Given the description of an element on the screen output the (x, y) to click on. 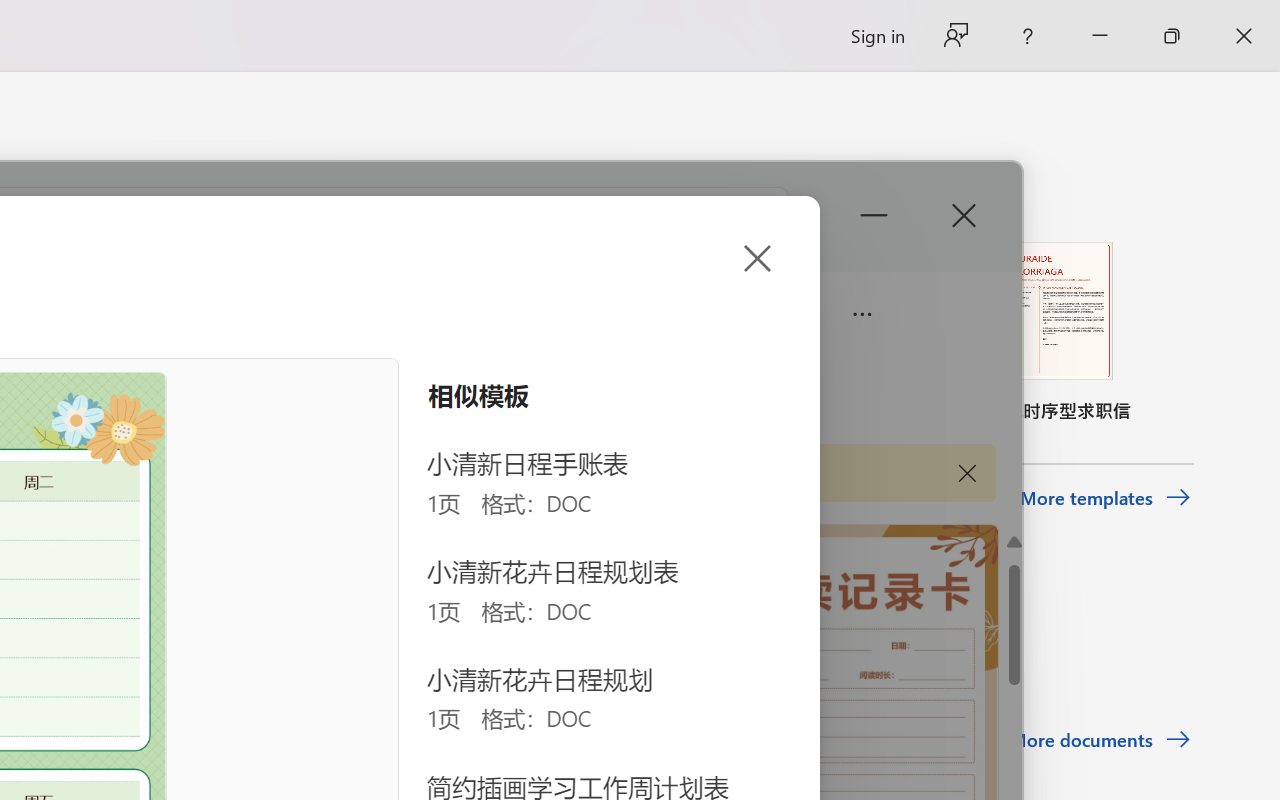
Sign in (875, 35)
More documents (1100, 740)
More templates (1105, 498)
